Given the description of an element on the screen output the (x, y) to click on. 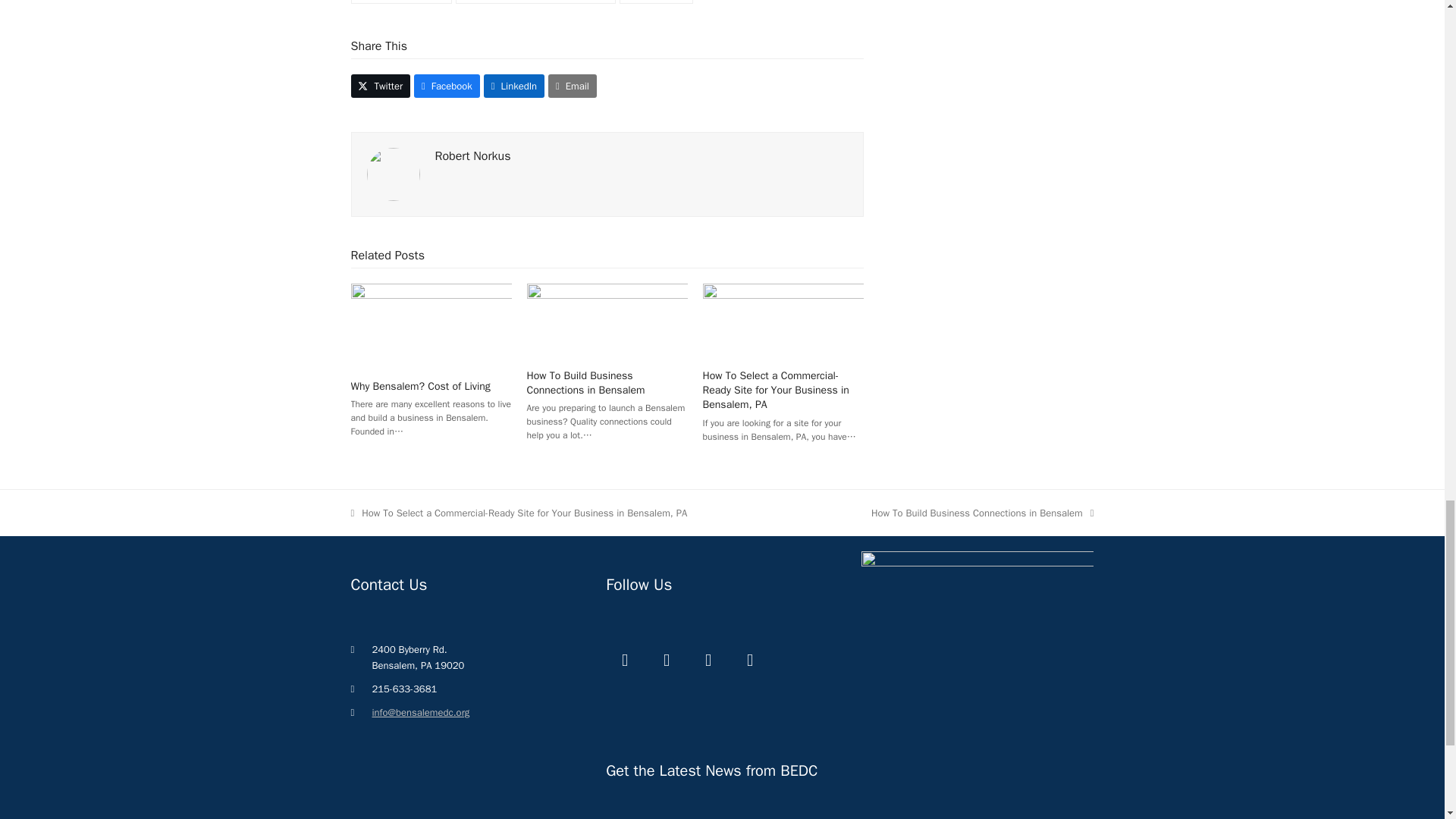
Twitter (380, 85)
LinkedIn (513, 85)
Visit Author Page (473, 155)
YouTube (707, 660)
Email (572, 85)
Visit Author Page (393, 173)
Facebook (446, 85)
How To Build Business Connections in Bensalem (586, 382)
Robert Norkus (473, 155)
Instagram (749, 660)
